Given the description of an element on the screen output the (x, y) to click on. 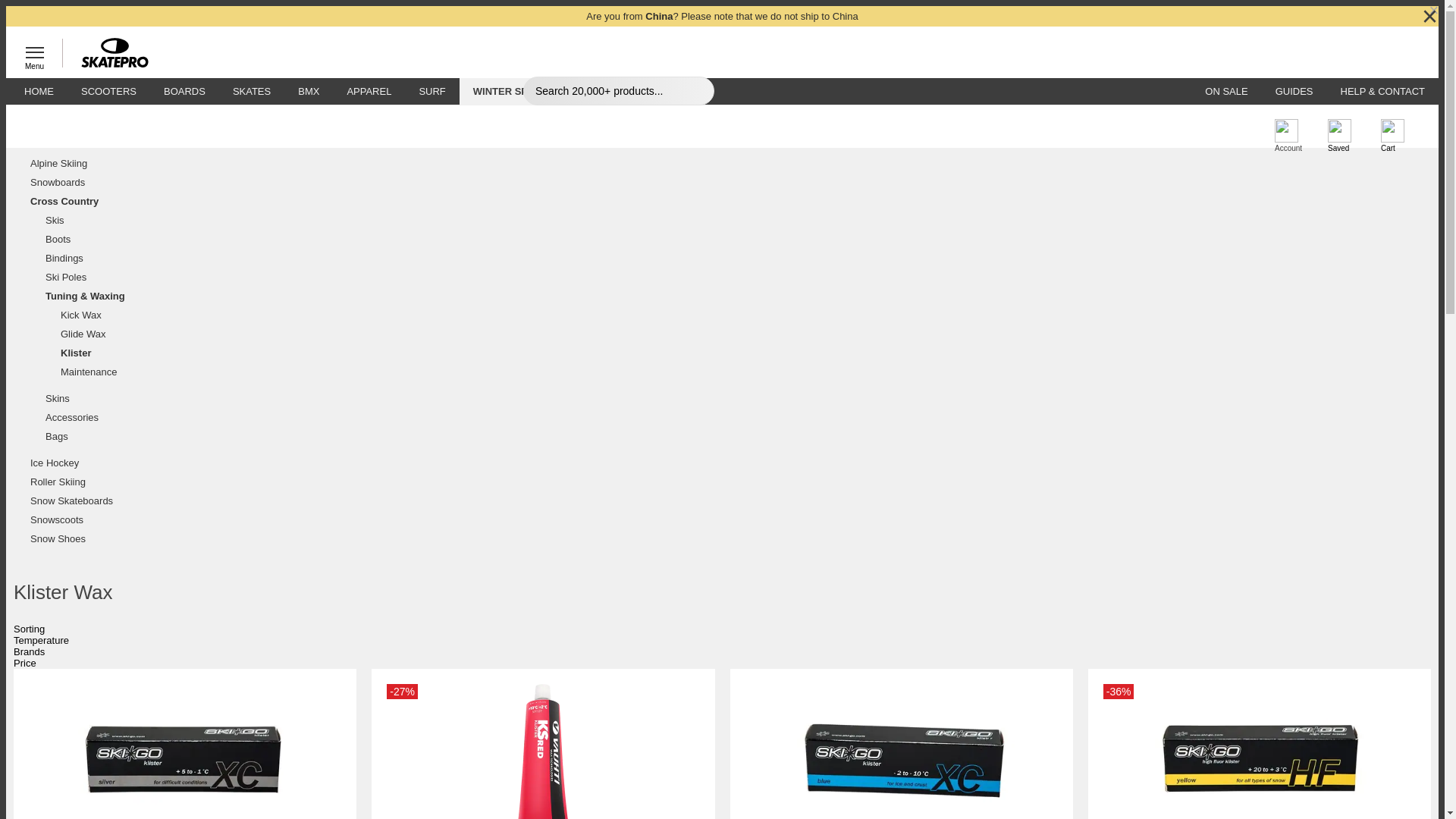
Skateboards, Longboards and Cruiser Skateboards (184, 90)
SkatePro (108, 53)
